Given the description of an element on the screen output the (x, y) to click on. 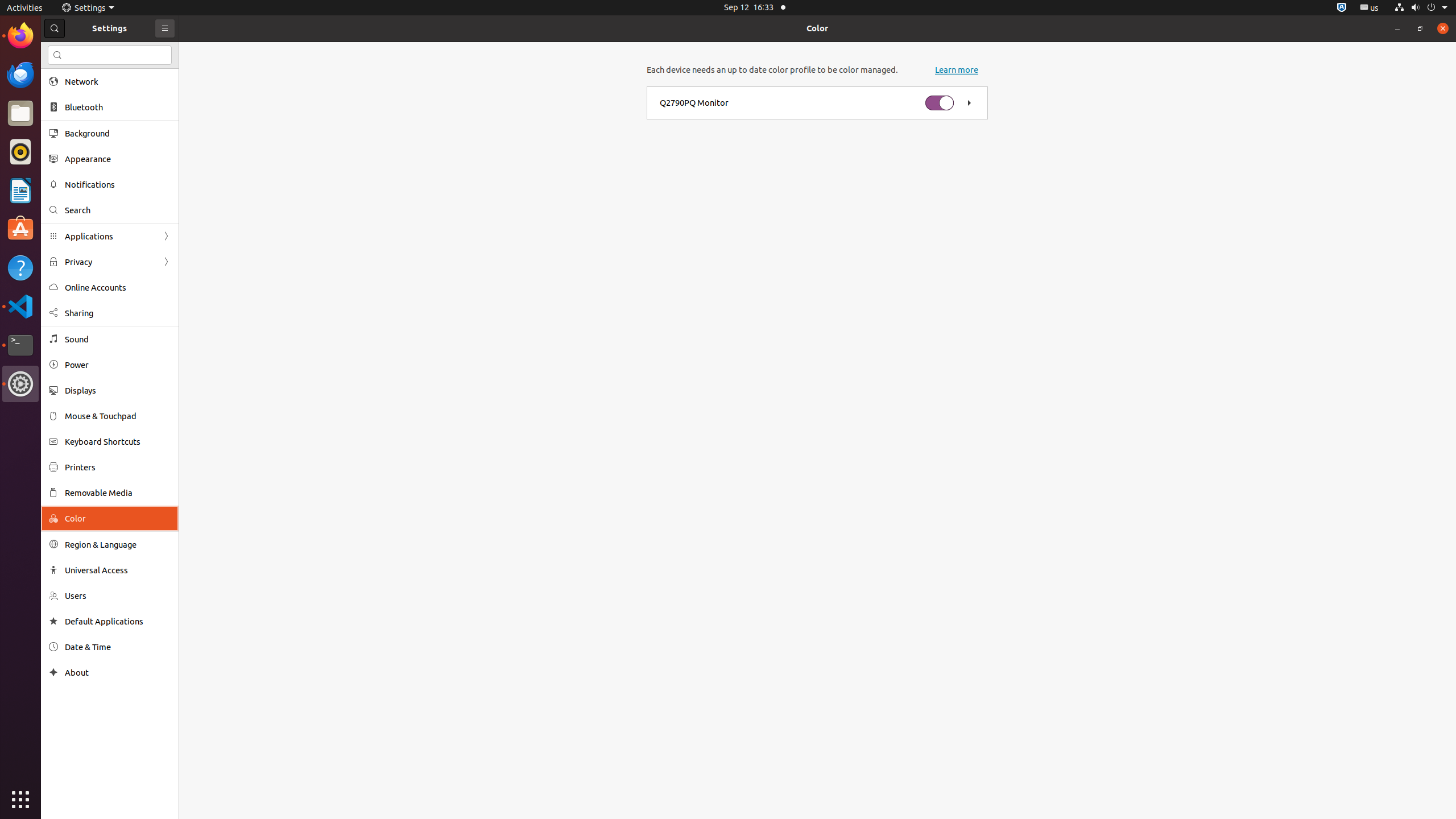
Date & Time Element type: label (117, 646)
Enable color management for Q2790PQ Monitor Element type: toggle-button (939, 102)
Mouse & Touchpad Element type: label (117, 415)
About Element type: label (117, 672)
Users Element type: label (117, 595)
